Given the description of an element on the screen output the (x, y) to click on. 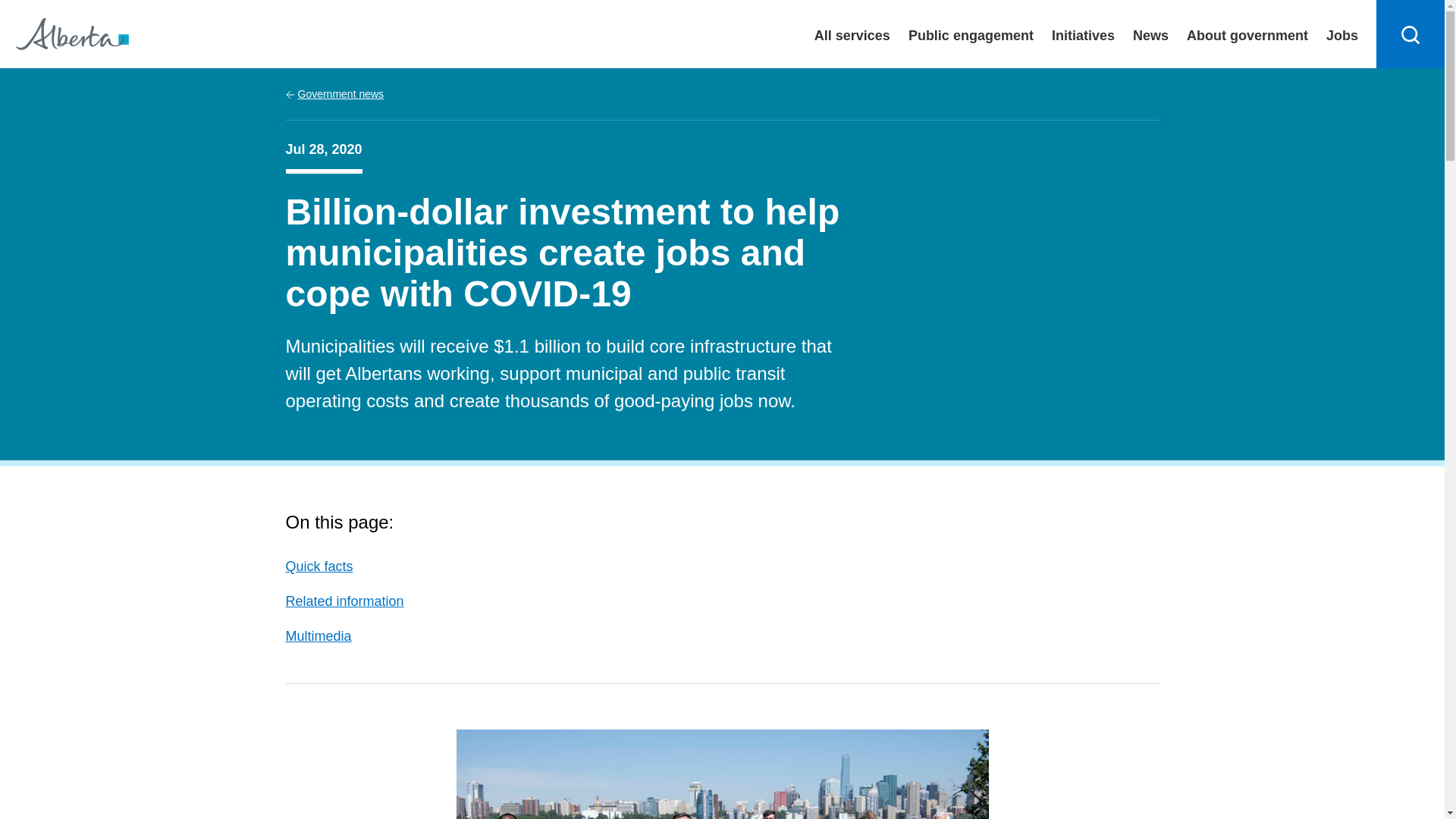
Multimedia (317, 635)
Public engagement (970, 33)
Related information (344, 601)
Government news (334, 93)
About government (1247, 33)
Initiatives (1083, 33)
Quick facts (318, 566)
All services (852, 33)
